Given the description of an element on the screen output the (x, y) to click on. 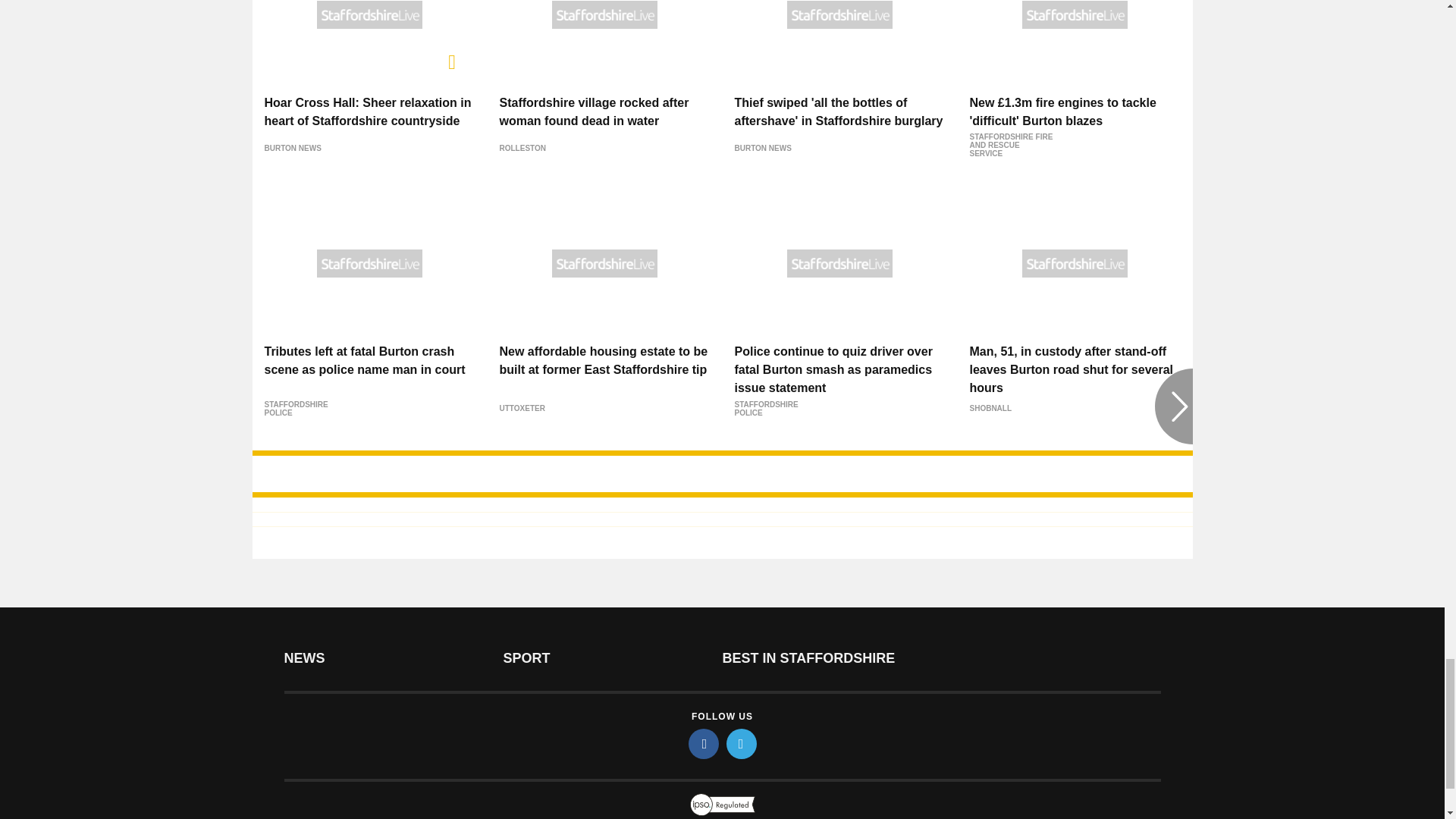
twitter (741, 743)
facebook (703, 743)
